Given the description of an element on the screen output the (x, y) to click on. 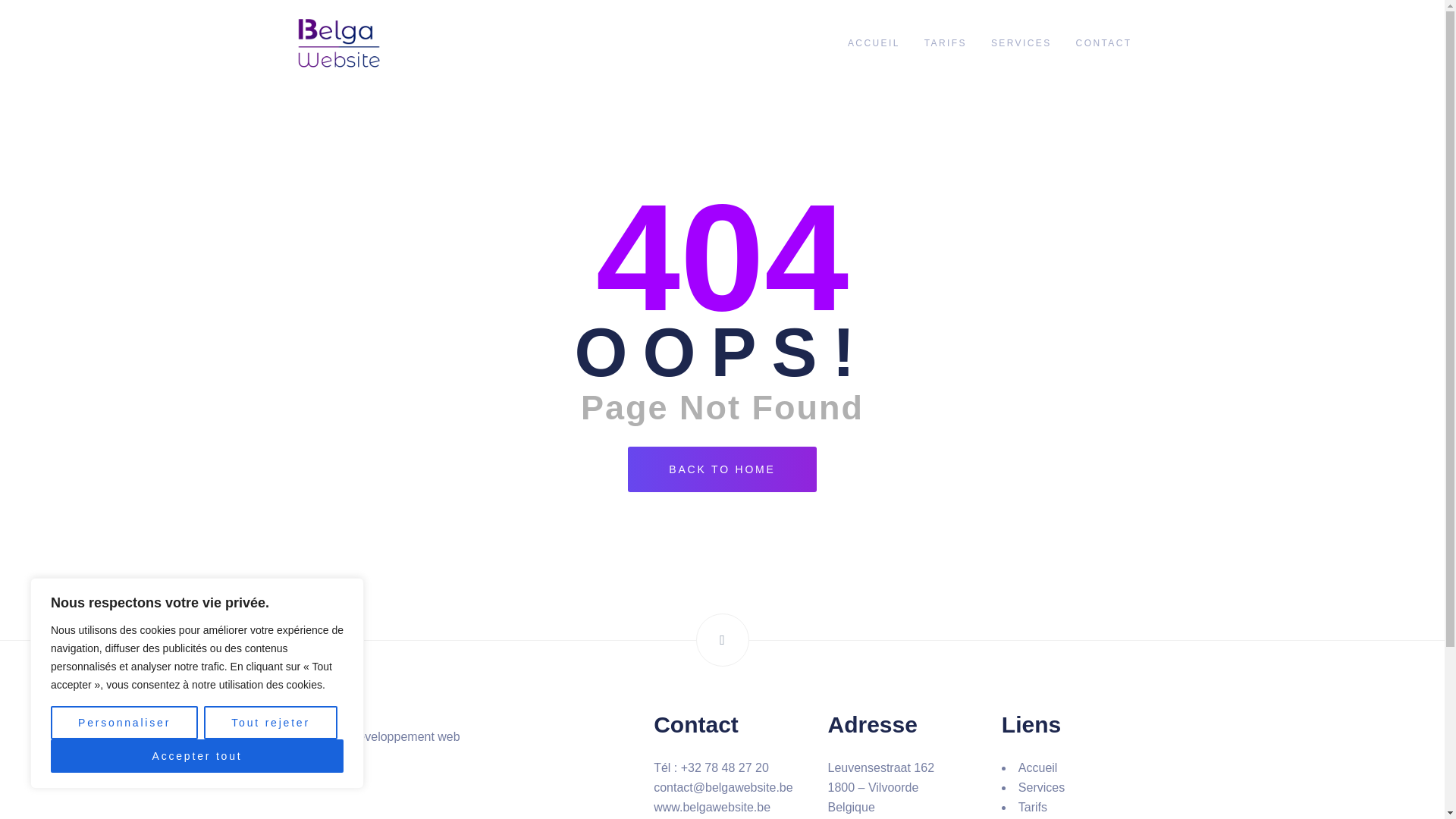
SERVICES Element type: text (1021, 43)
Accueil Element type: text (1037, 767)
Services Element type: text (1041, 787)
Belgawebsite Element type: hover (337, 42)
Accepter tout Element type: text (196, 755)
Personnaliser Element type: text (123, 722)
ACCUEIL Element type: text (873, 43)
Tout rejeter Element type: text (270, 722)
TARIFS Element type: text (945, 43)
BACK TO HOME Element type: text (721, 469)
Tarifs Element type: text (1032, 806)
CONTACT Element type: text (1103, 43)
